Given the description of an element on the screen output the (x, y) to click on. 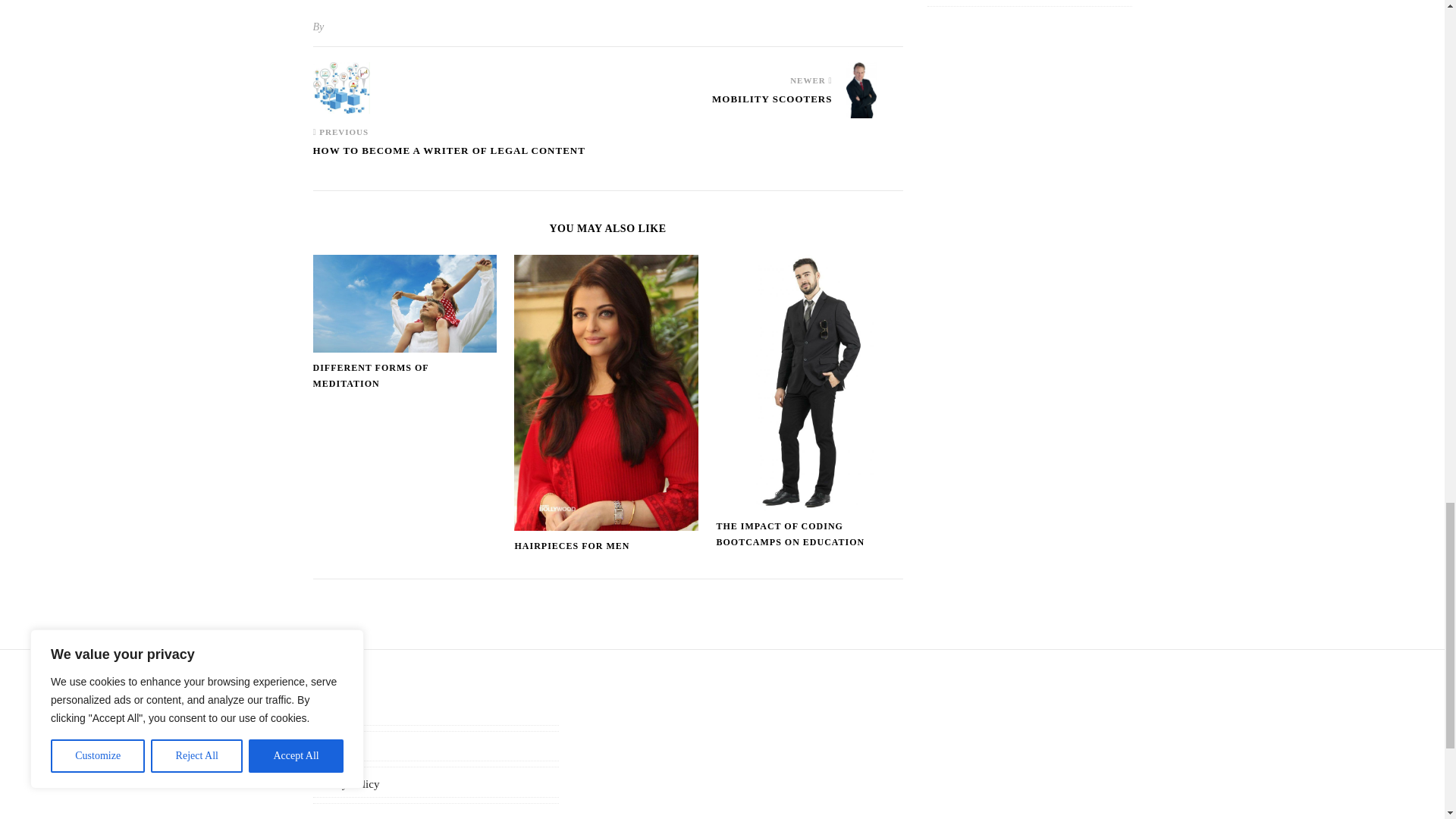
How to become a writer of legal content (449, 157)
How to become a writer of legal content (341, 87)
Mobility scooters (873, 89)
Mobility scooters (771, 106)
